Given the description of an element on the screen output the (x, y) to click on. 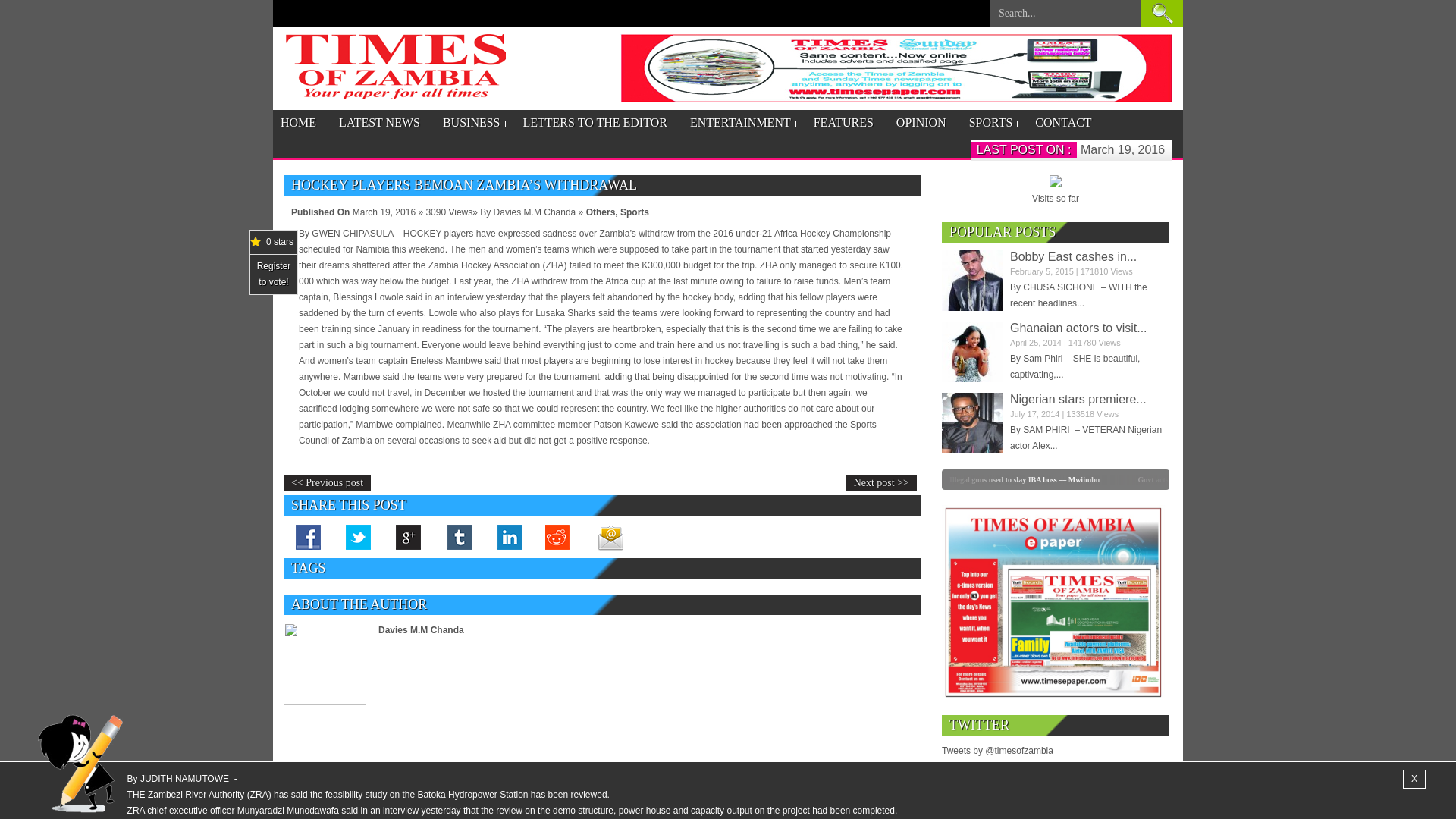
Reddit (558, 536)
Twitter (358, 536)
CONTACT (1062, 122)
Posts by Davies M.M Chanda (421, 629)
FEATURES (843, 122)
Bobby East  cashes in at  The Bank Cafe (972, 280)
0 (858, 479)
Email (609, 536)
LETTERS TO THE EDITOR (594, 122)
Register (274, 266)
Sports (634, 212)
Others (600, 212)
Bobby East  cashes in at  The Bank Cafe (1073, 256)
Tumblr (458, 536)
Ghanaian actors to visit Zambia (972, 351)
